Given the description of an element on the screen output the (x, y) to click on. 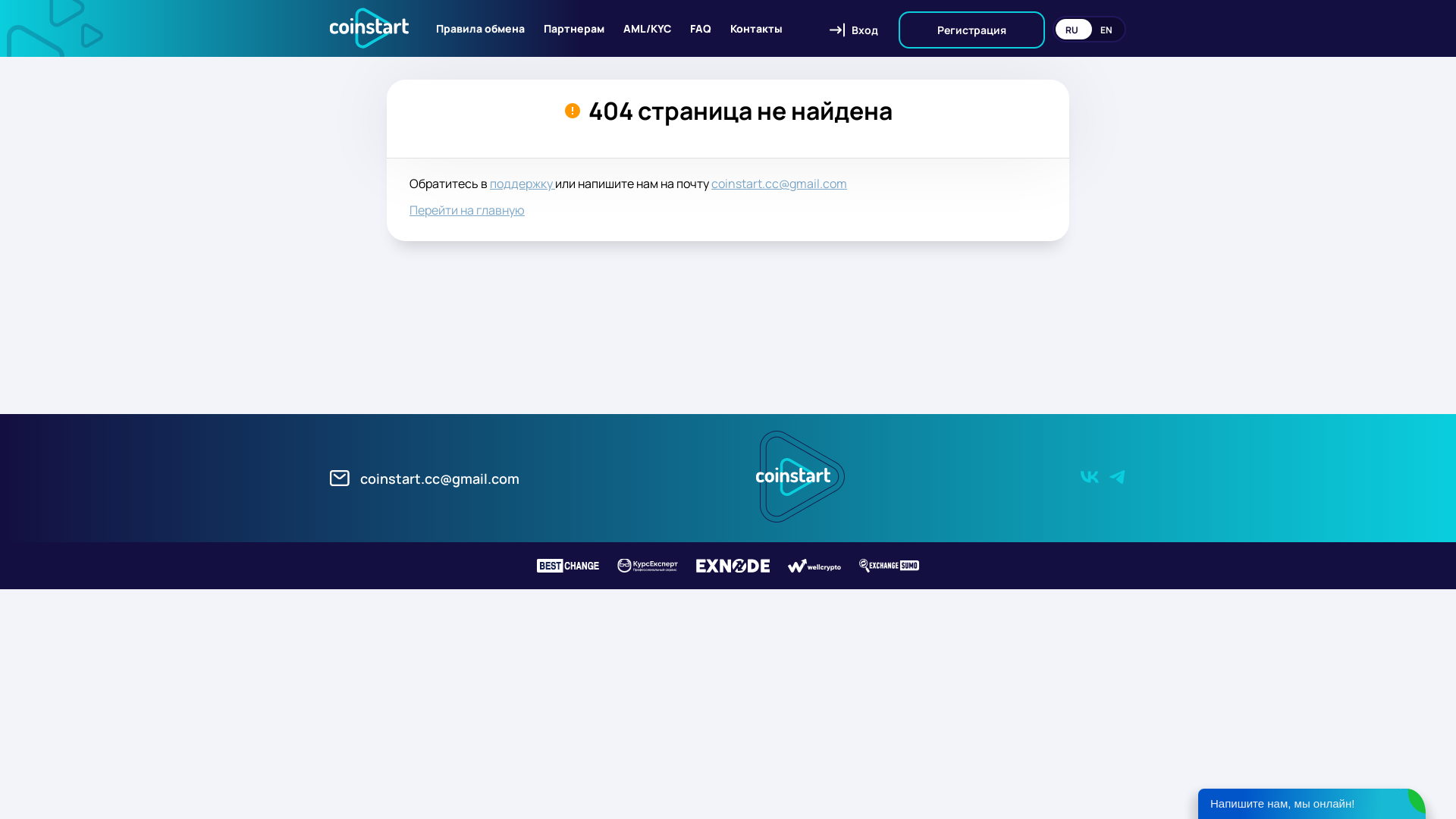
FAQ Element type: text (700, 28)
coinstart.cc@gmail.com Element type: text (424, 477)
coinstart.cc@gmail.com Element type: text (779, 183)
AML/KYC Element type: text (647, 28)
